Given the description of an element on the screen output the (x, y) to click on. 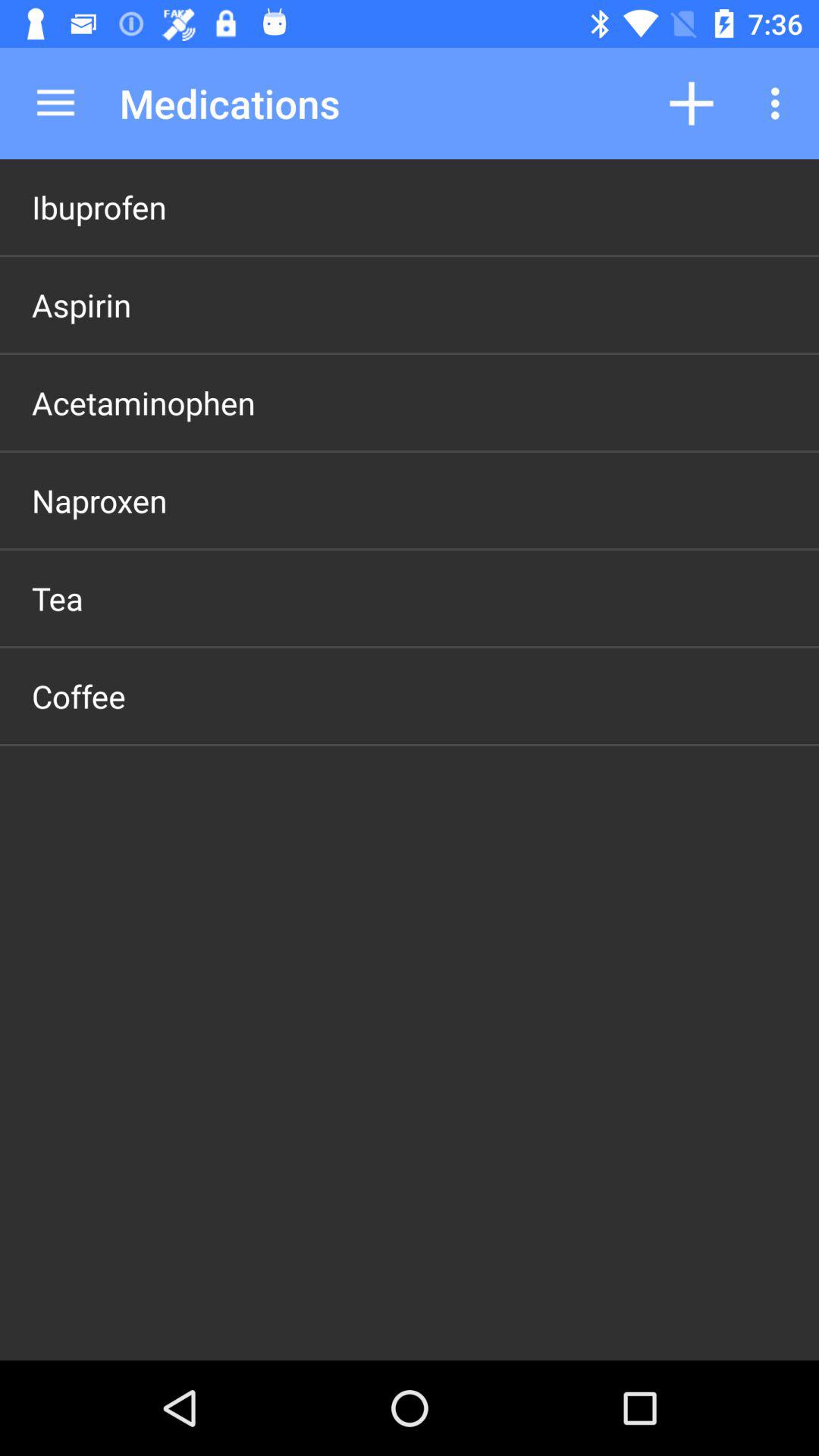
scroll to the ibuprofen app (99, 206)
